Given the description of an element on the screen output the (x, y) to click on. 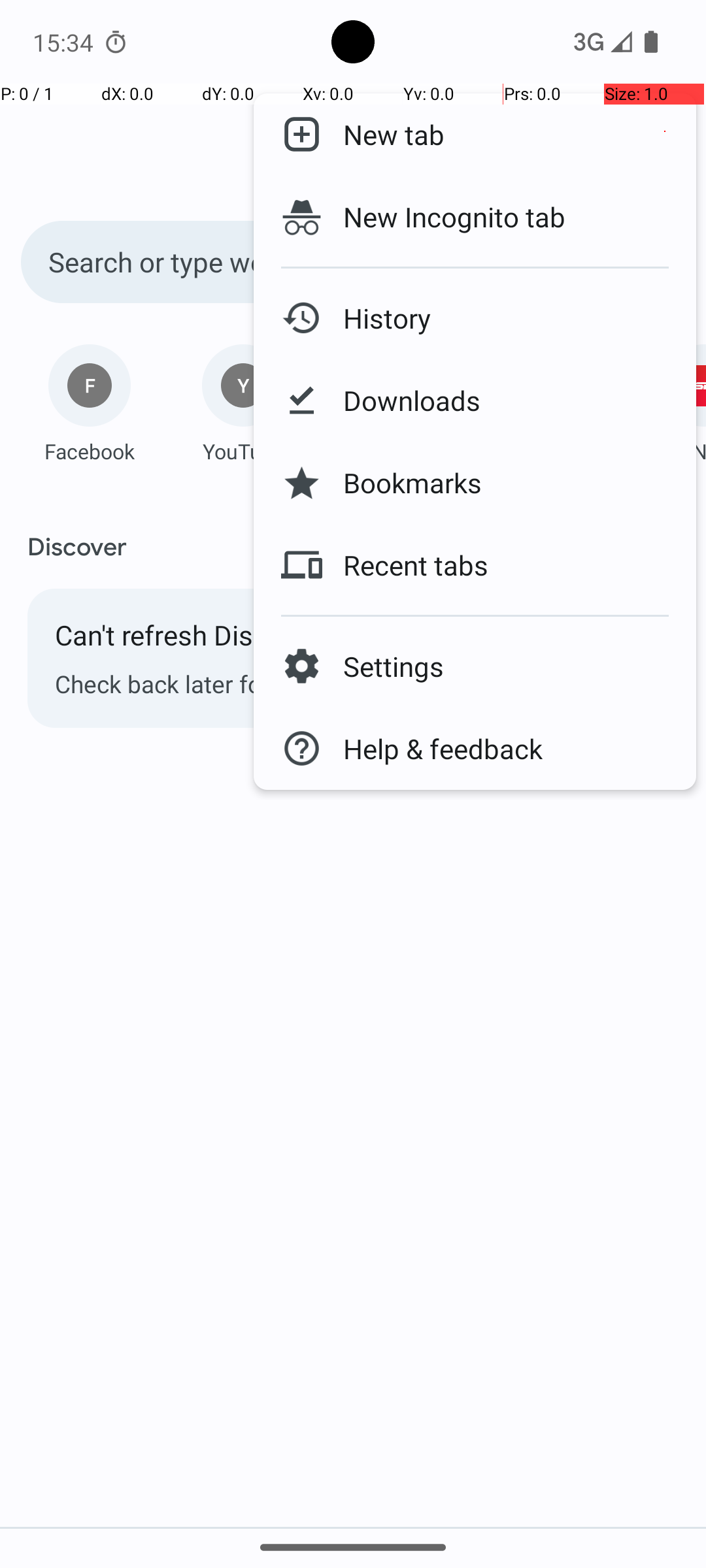
Bookmarks Element type: android.widget.TextView (401, 482)
Recent tabs Element type: android.widget.TextView (405, 564)
